Given the description of an element on the screen output the (x, y) to click on. 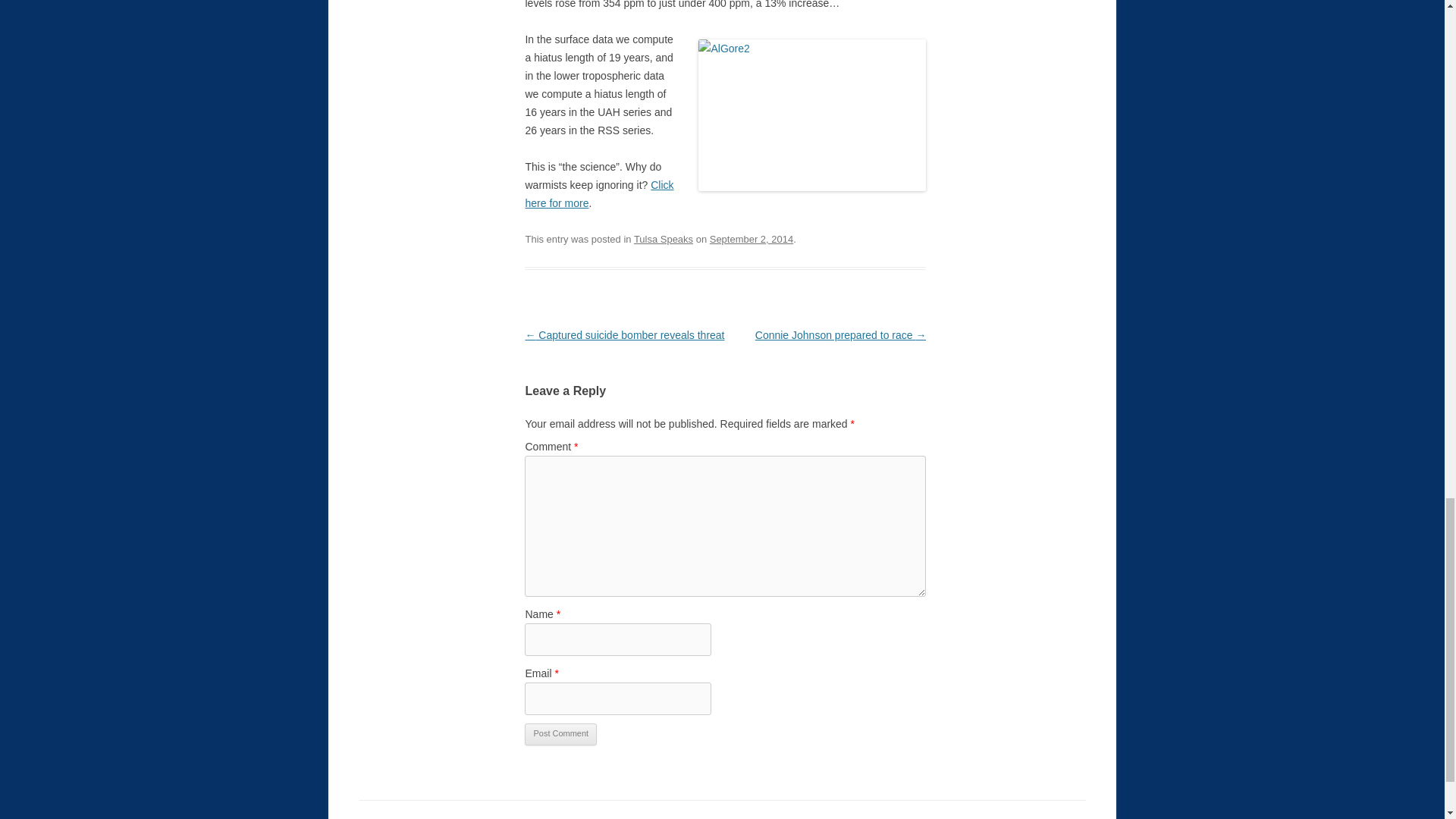
Tulsa Speaks (663, 238)
Click here for more (598, 194)
2:18 pm (751, 238)
September 2, 2014 (751, 238)
Post Comment (560, 734)
Click here for more (598, 194)
Post Comment (560, 734)
